Given the description of an element on the screen output the (x, y) to click on. 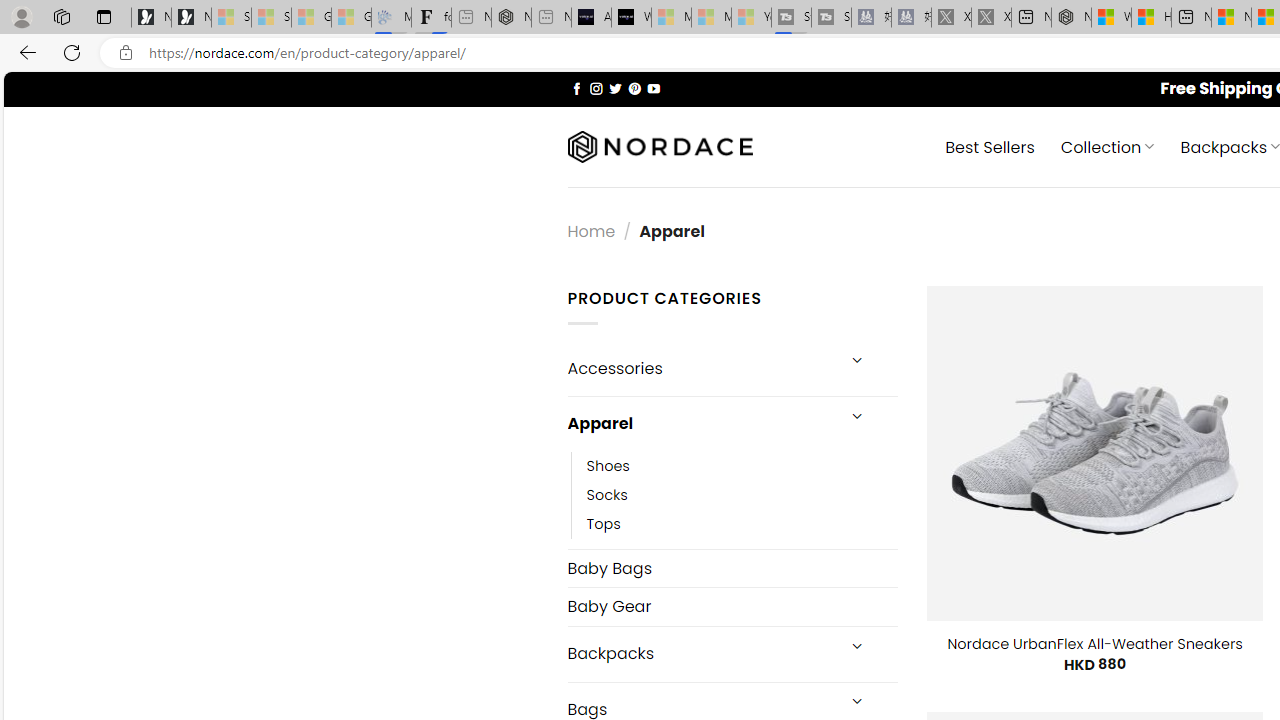
  Best Sellers (989, 146)
Baby Gear (732, 606)
Apparel (700, 423)
Shoes (607, 465)
Socks (742, 494)
